Given the description of an element on the screen output the (x, y) to click on. 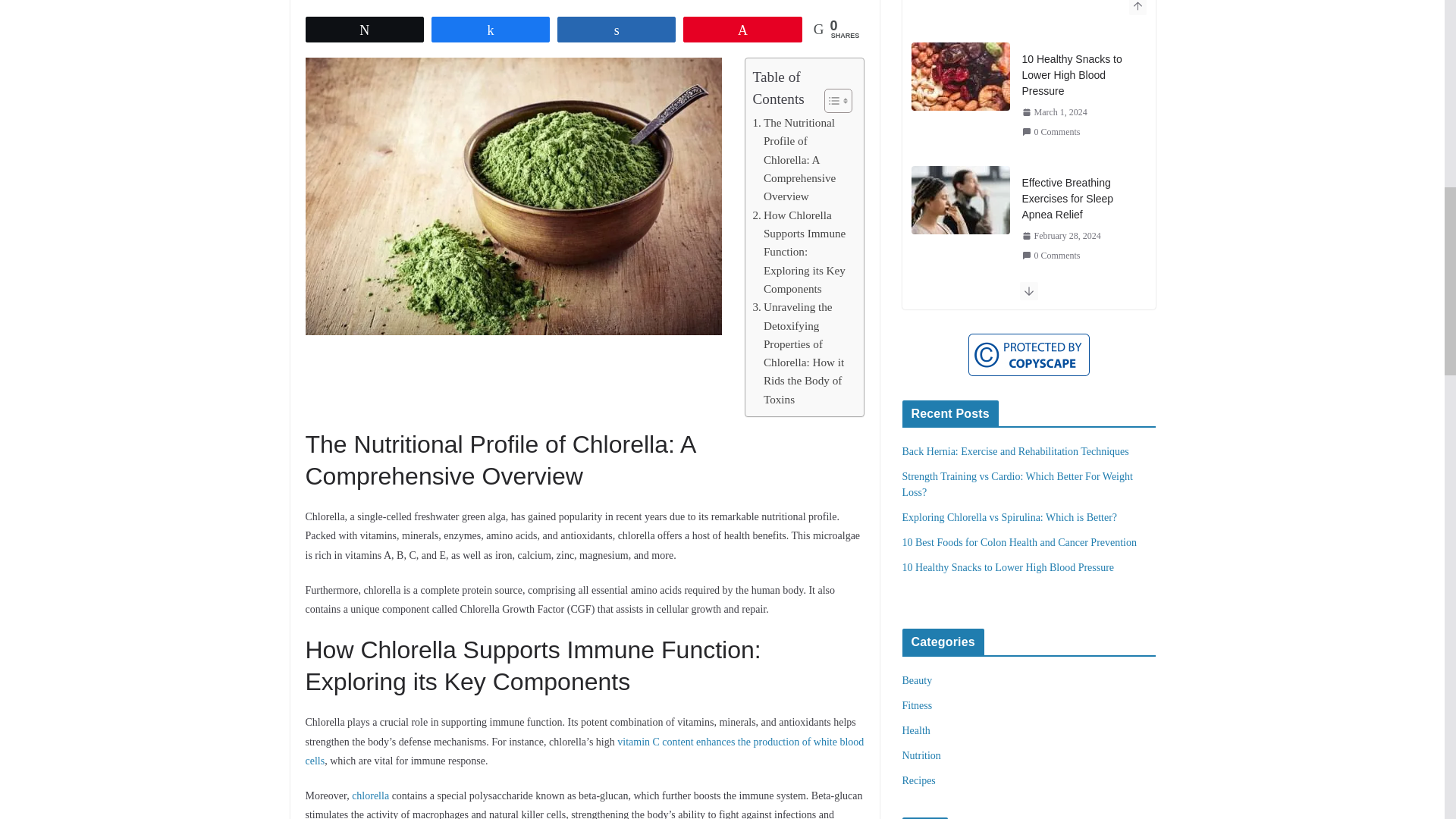
dexterfulton (430, 0)
blue-green algae (622, 0)
herbs for health (722, 0)
chlorella (673, 0)
chlorella (370, 795)
0 Comments (544, 0)
dexterfulton (430, 0)
September 27, 2023 (347, 0)
